Given the description of an element on the screen output the (x, y) to click on. 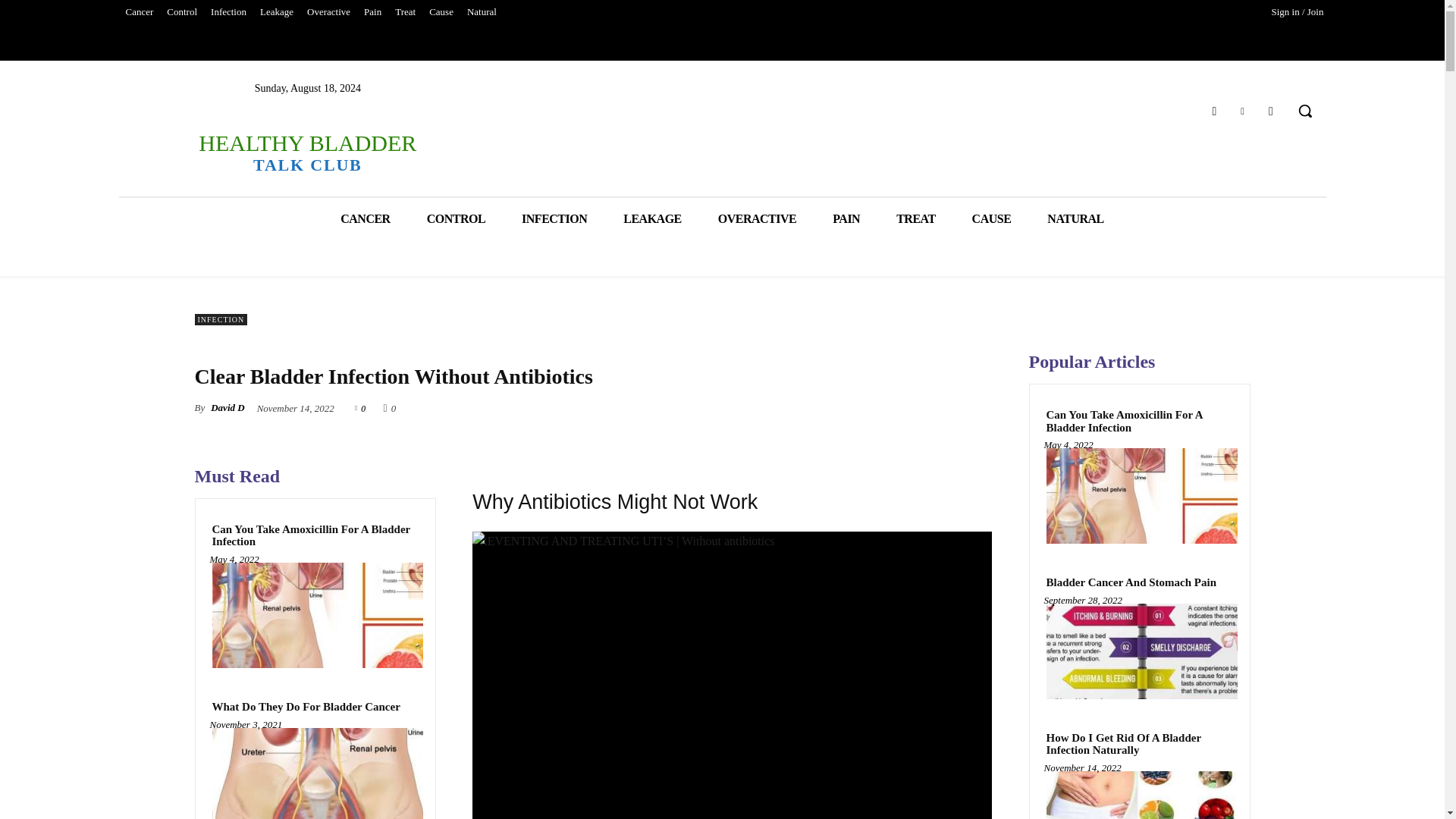
NATURAL (1075, 218)
Overactive (327, 12)
Can You Take Amoxicillin For A Bladder Infection (314, 535)
Infection (228, 12)
Facebook (1214, 110)
Cause (441, 12)
Twitter (1241, 110)
TREAT (915, 218)
LEAKAGE (652, 218)
Youtube (1270, 110)
